Given the description of an element on the screen output the (x, y) to click on. 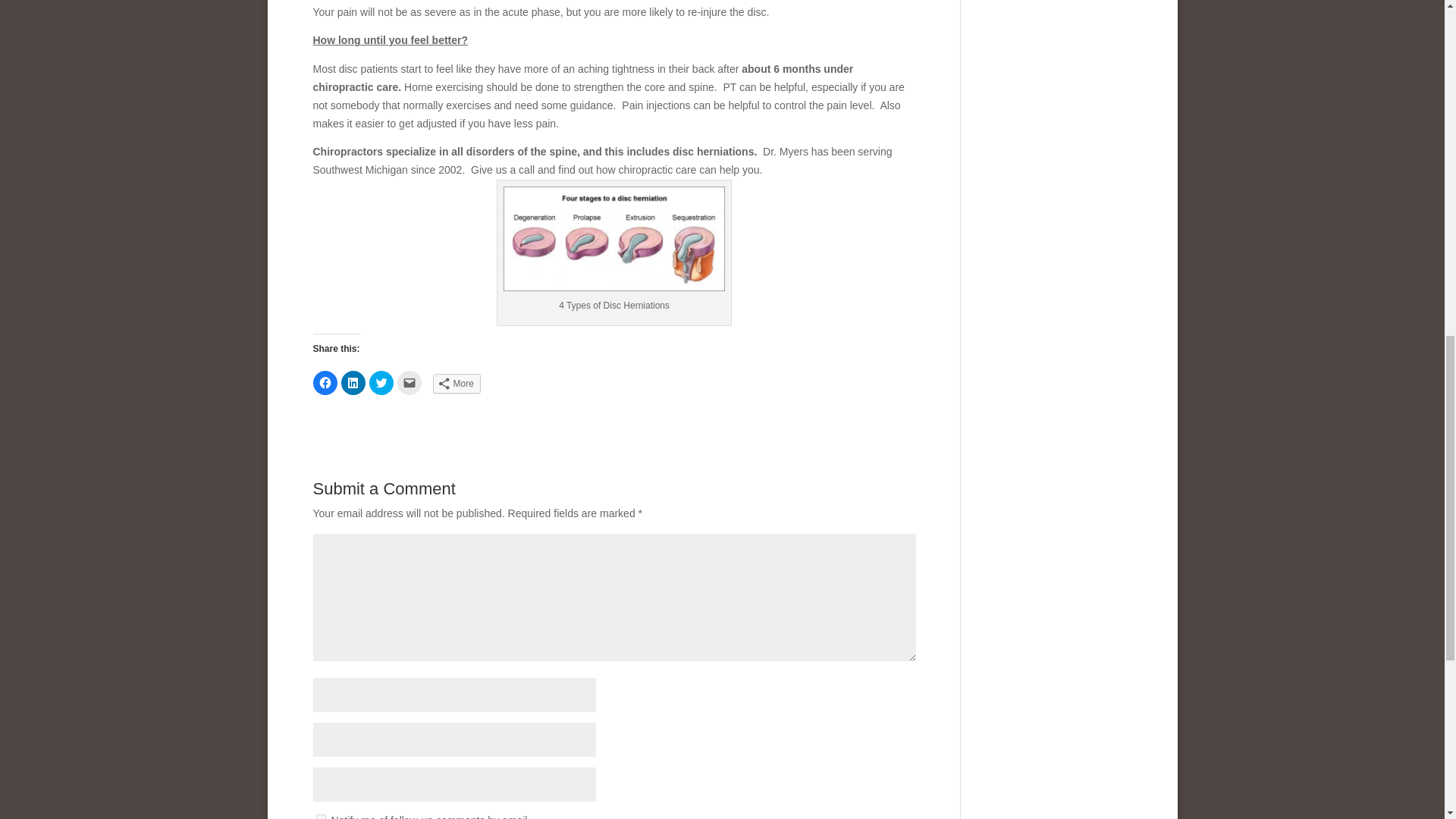
More (456, 383)
Click to share on Facebook (324, 382)
Click to email a link to a friend (409, 382)
subscribe (319, 816)
Click to share on Twitter (380, 382)
Click to share on LinkedIn (352, 382)
